Given the description of an element on the screen output the (x, y) to click on. 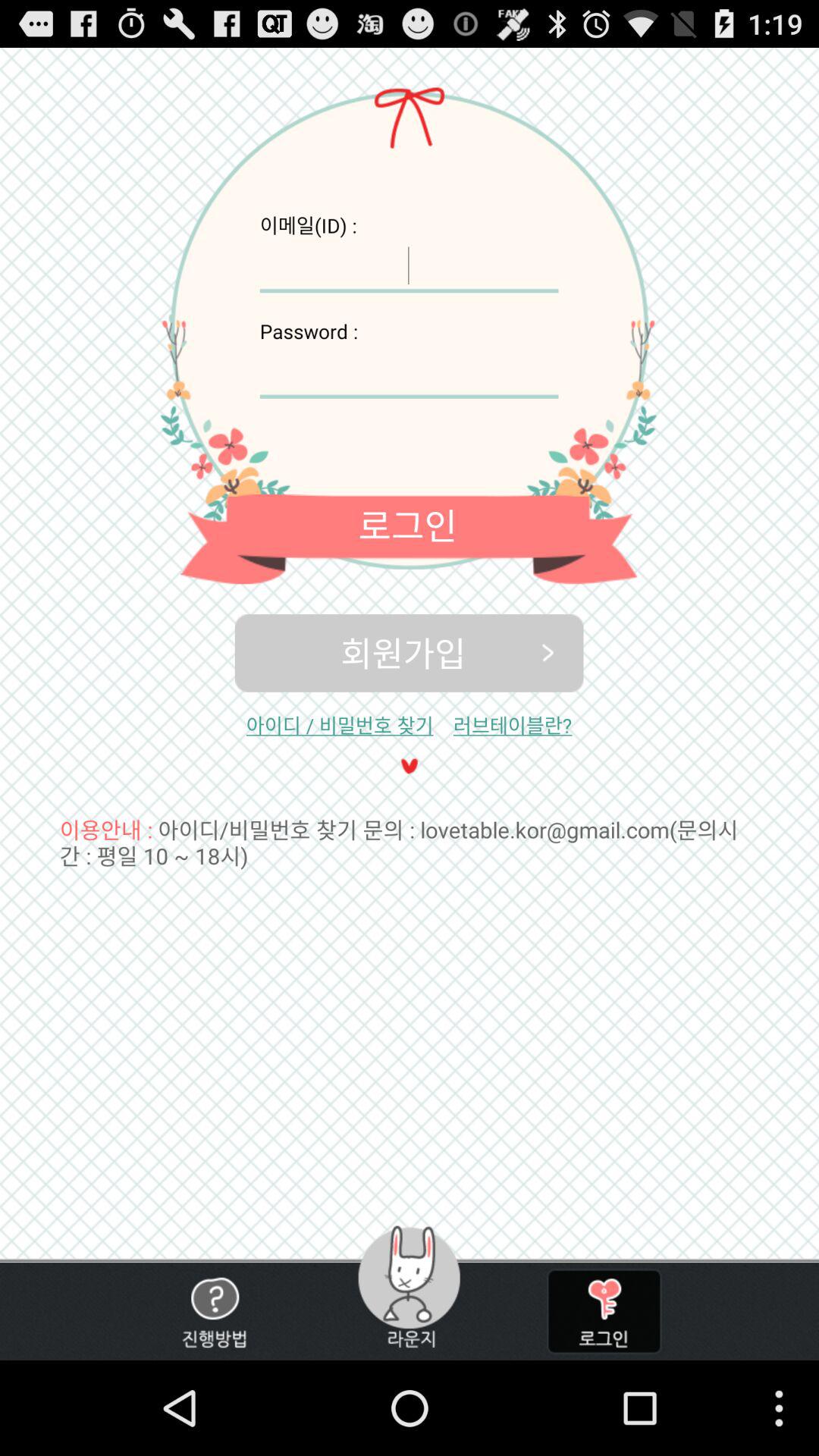
type password (604, 1311)
